Given the description of an element on the screen output the (x, y) to click on. 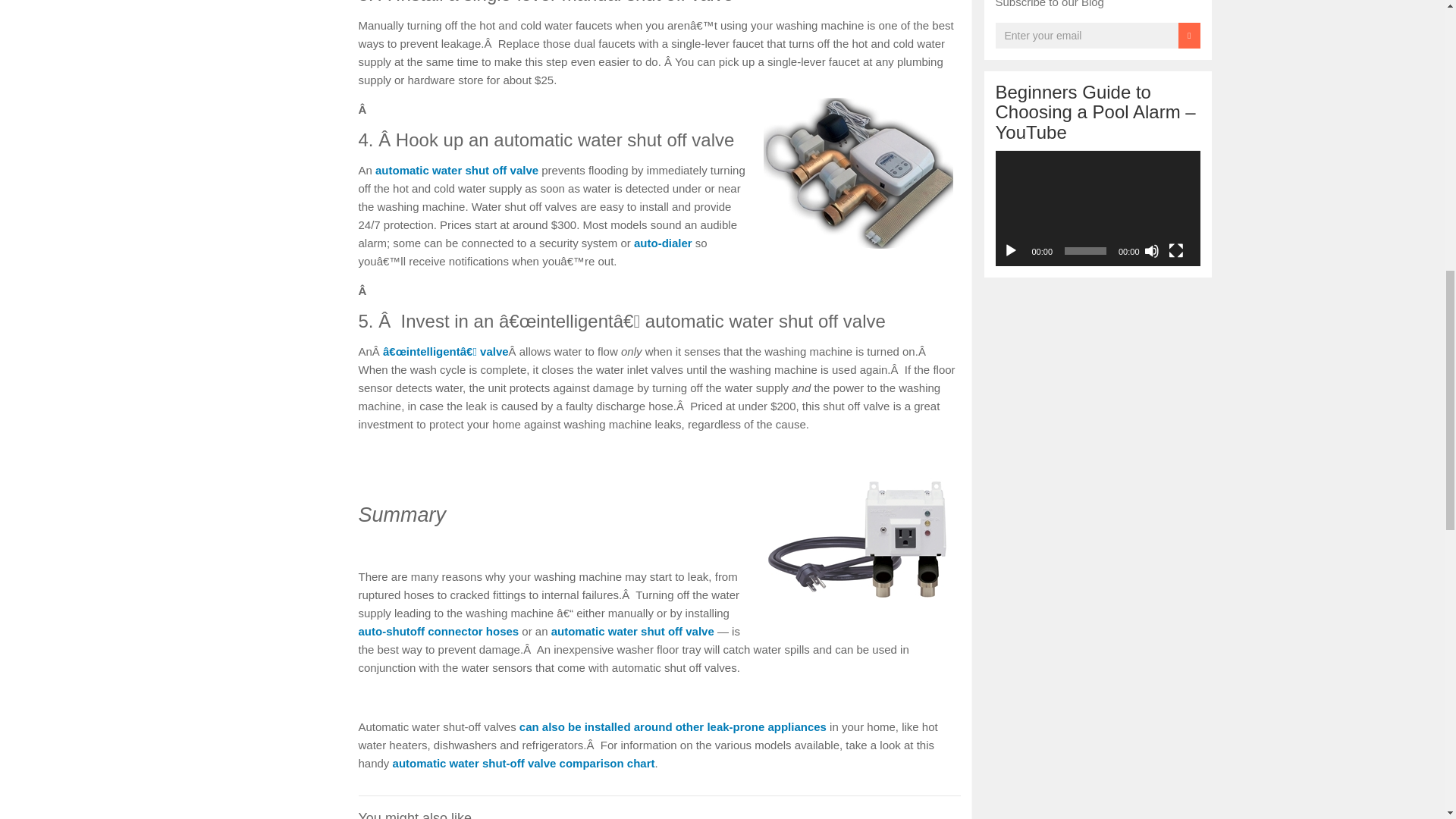
Fullscreen (1174, 250)
automatic water shut off valve (632, 631)
auto-dialer (663, 242)
Play (1010, 250)
Mute (1150, 250)
auto-shutoff connector hoses (438, 631)
automatic water shut-off valve comparison chart (524, 762)
can also be installed around other leak-prone appliances (673, 726)
automatic water shut off valve (456, 169)
